Given the description of an element on the screen output the (x, y) to click on. 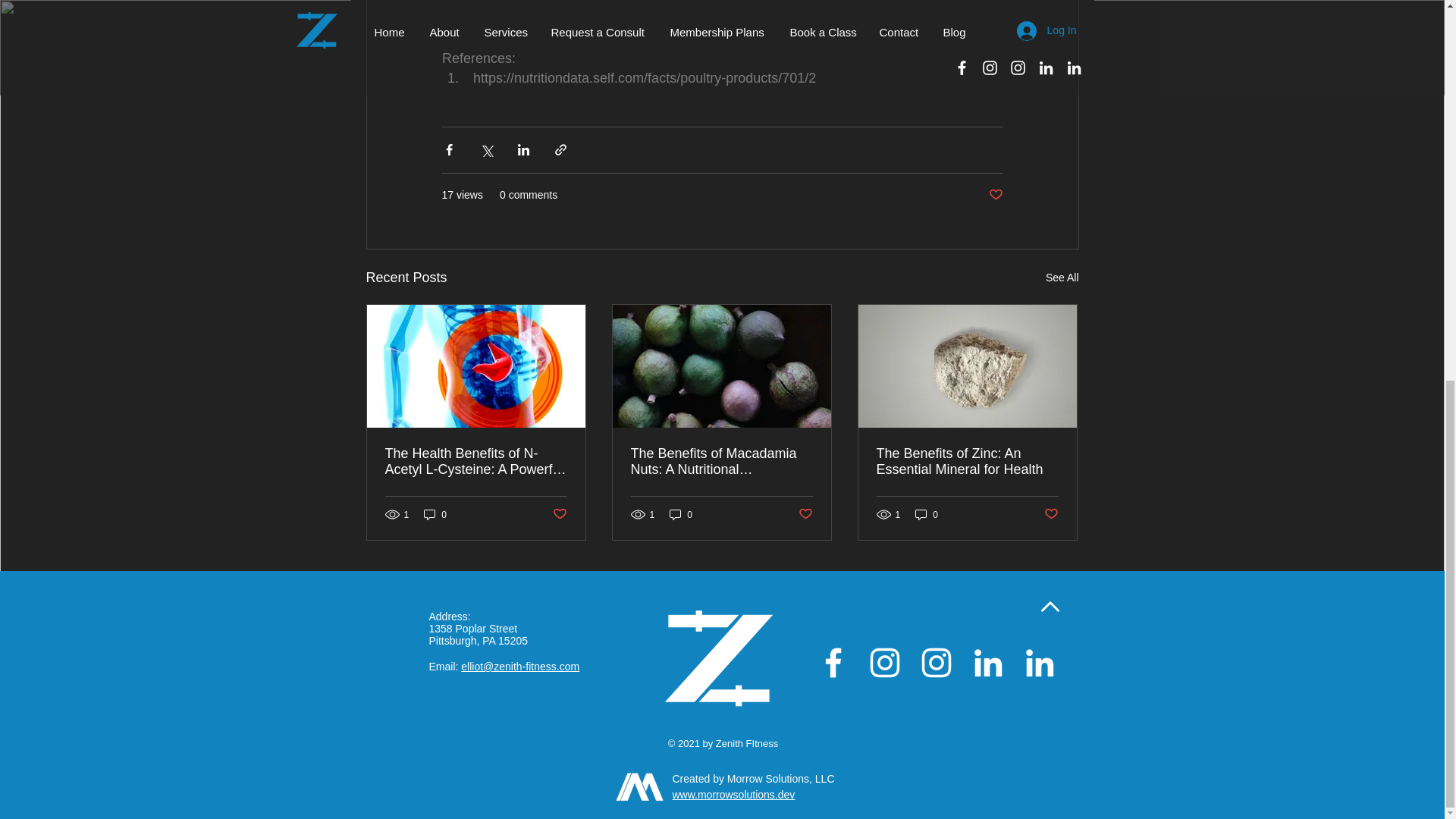
See All (1061, 277)
0 (435, 513)
The Benefits of Macadamia Nuts: A Nutritional Powerhouse (721, 461)
Post not marked as liked (804, 514)
Post not marked as liked (995, 195)
Post not marked as liked (558, 514)
The Benefits of Zinc: An Essential Mineral for Health (967, 461)
Post not marked as liked (1050, 514)
0 (681, 513)
